Given the description of an element on the screen output the (x, y) to click on. 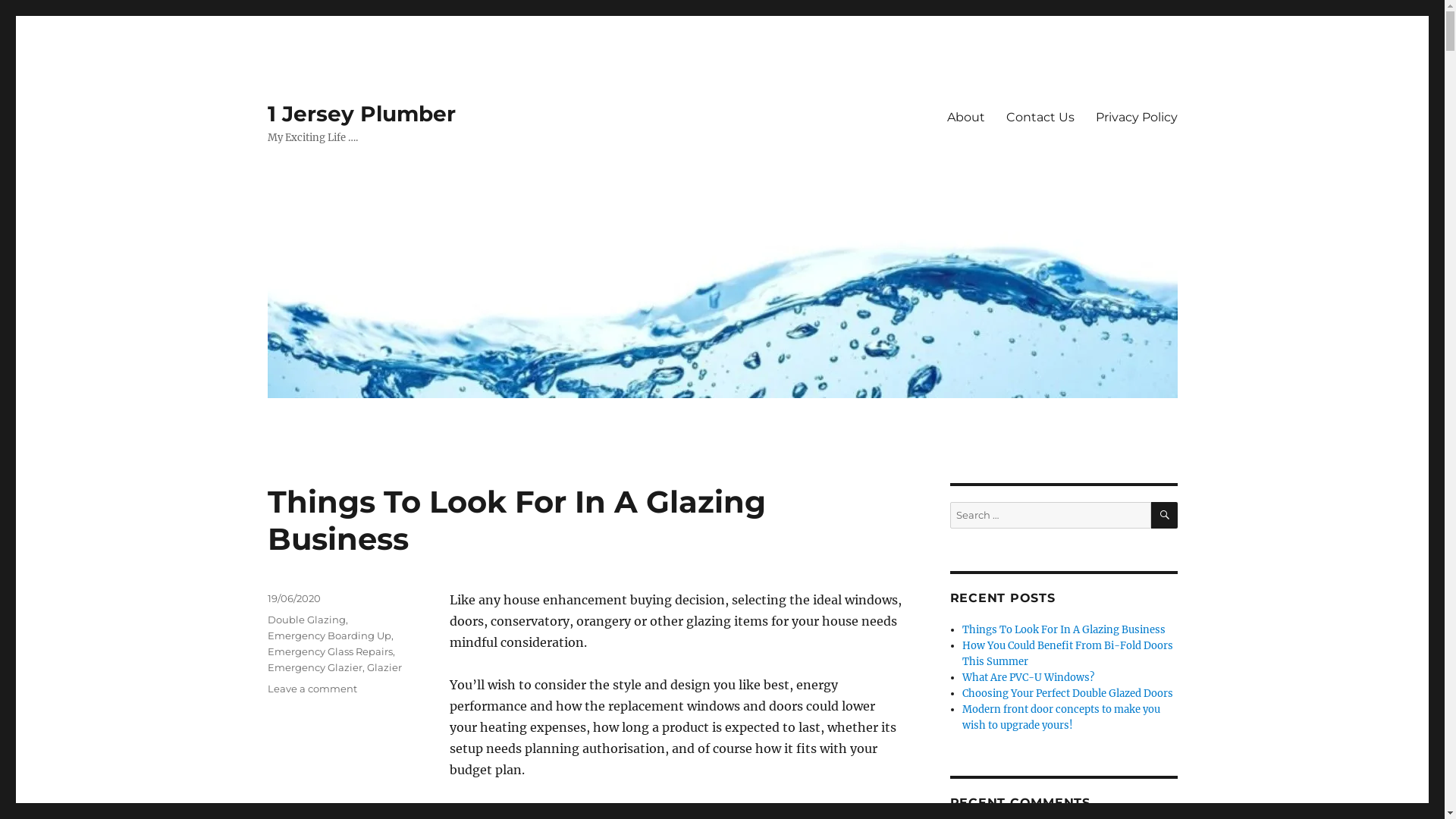
Glazier Element type: text (384, 667)
Emergency Glass Repairs Element type: text (329, 651)
Double Glazing Element type: text (305, 619)
SEARCH Element type: text (1164, 515)
Emergency Glazier Element type: text (313, 667)
Contact Us Element type: text (1039, 116)
About Element type: text (964, 116)
Privacy Policy Element type: text (1135, 116)
How You Could Benefit From Bi-Fold Doors This Summer Element type: text (1067, 653)
19/06/2020 Element type: text (293, 598)
Emergency Boarding Up Element type: text (328, 635)
Things To Look For In A Glazing Business Element type: text (1063, 629)
What Are PVC-U Windows? Element type: text (1028, 677)
Choosing Your Perfect Double Glazed Doors Element type: text (1067, 693)
Leave a comment
on Things To Look For In A Glazing Business Element type: text (311, 688)
Things To Look For In A Glazing Business Element type: text (515, 520)
1 Jersey Plumber Element type: text (360, 113)
